Given the description of an element on the screen output the (x, y) to click on. 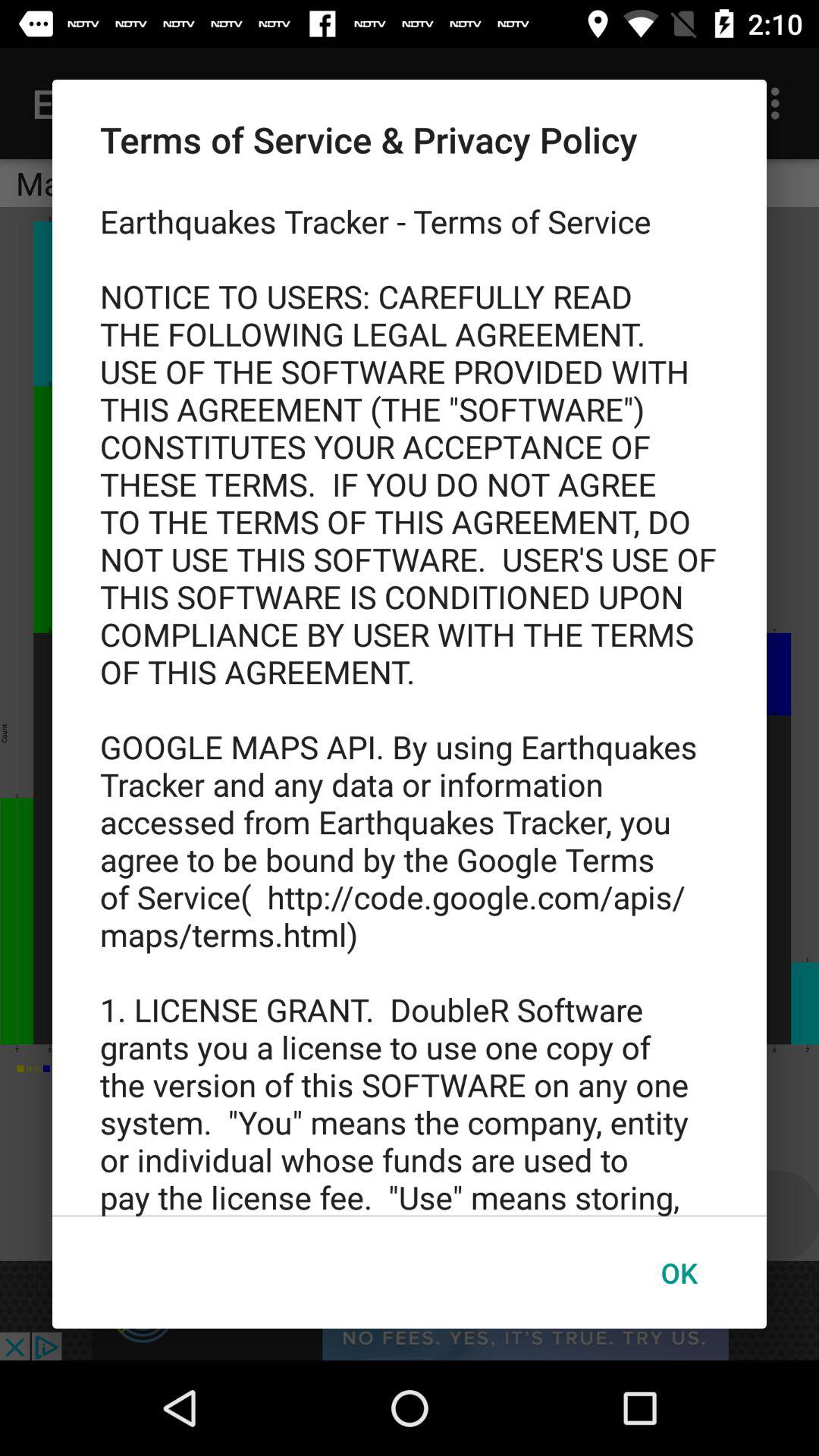
turn on icon at the bottom right corner (678, 1272)
